Given the description of an element on the screen output the (x, y) to click on. 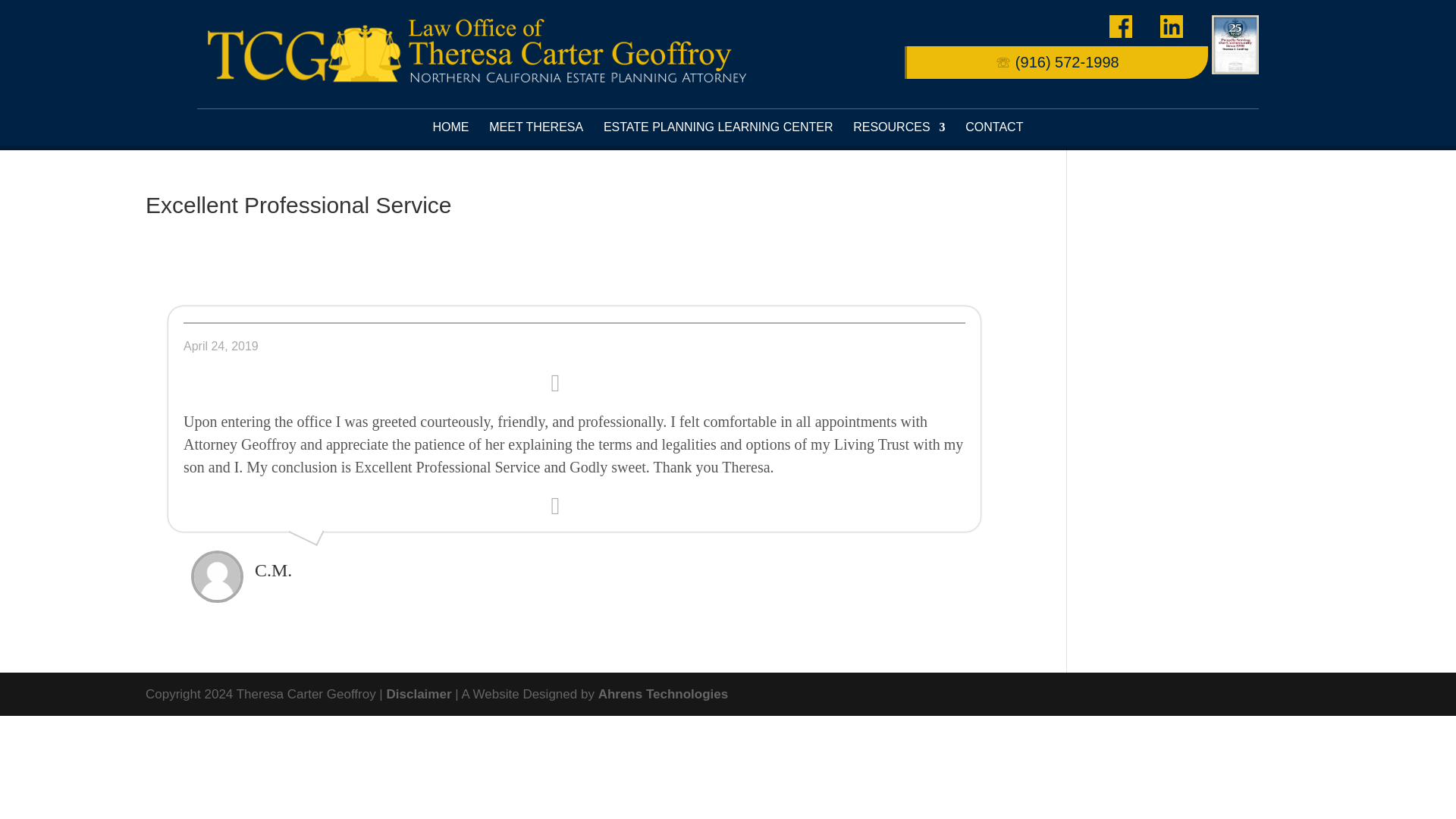
RESOURCES (898, 126)
MEET THERESA (536, 126)
CONTACT (994, 126)
HOME (450, 126)
Disclaimer (419, 694)
Ahrens Technologies (663, 694)
ESTATE PLANNING LEARNING CENTER (718, 126)
